Given the description of an element on the screen output the (x, y) to click on. 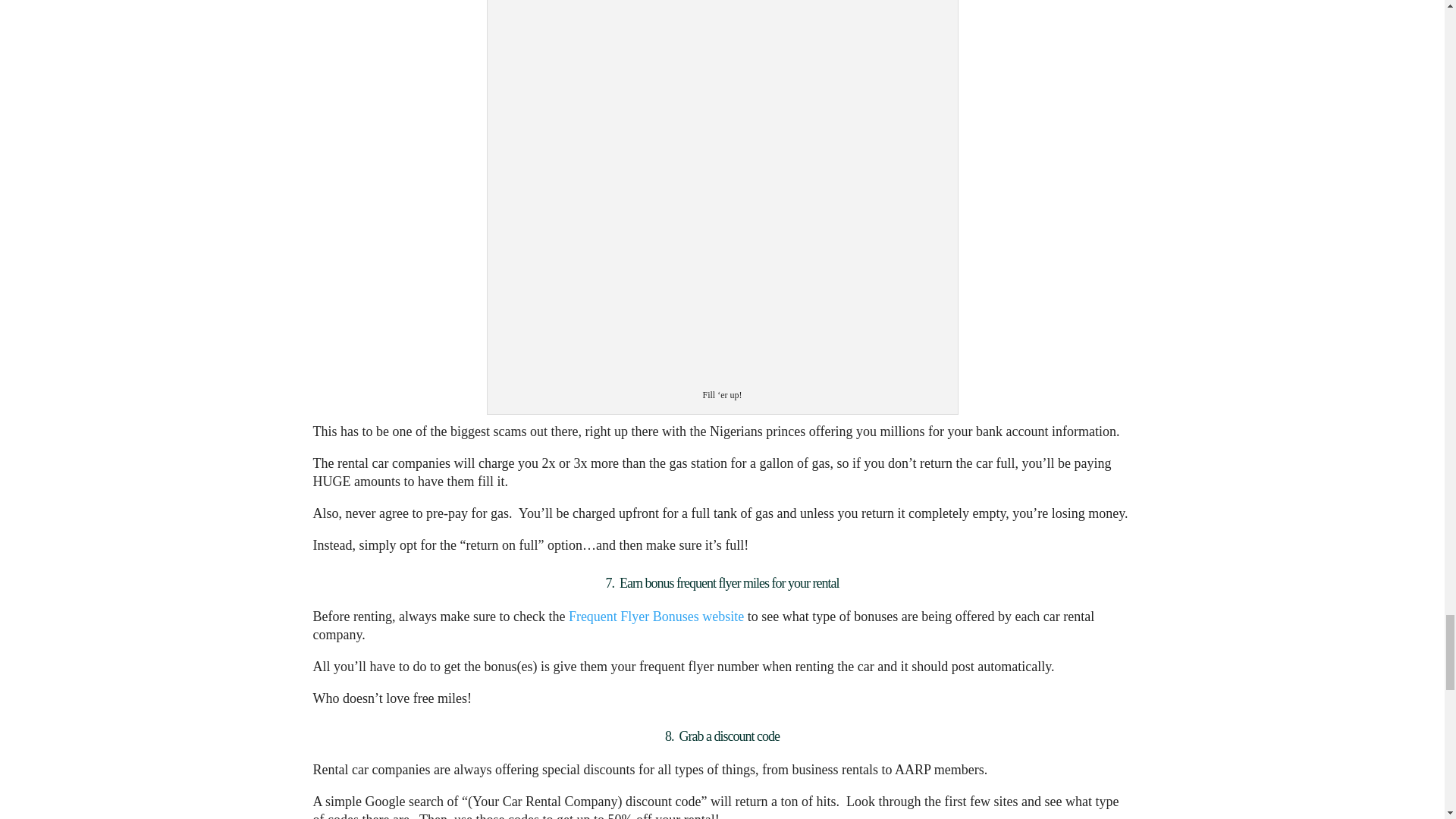
Frequent Flyer Bonuses website (656, 616)
